Given the description of an element on the screen output the (x, y) to click on. 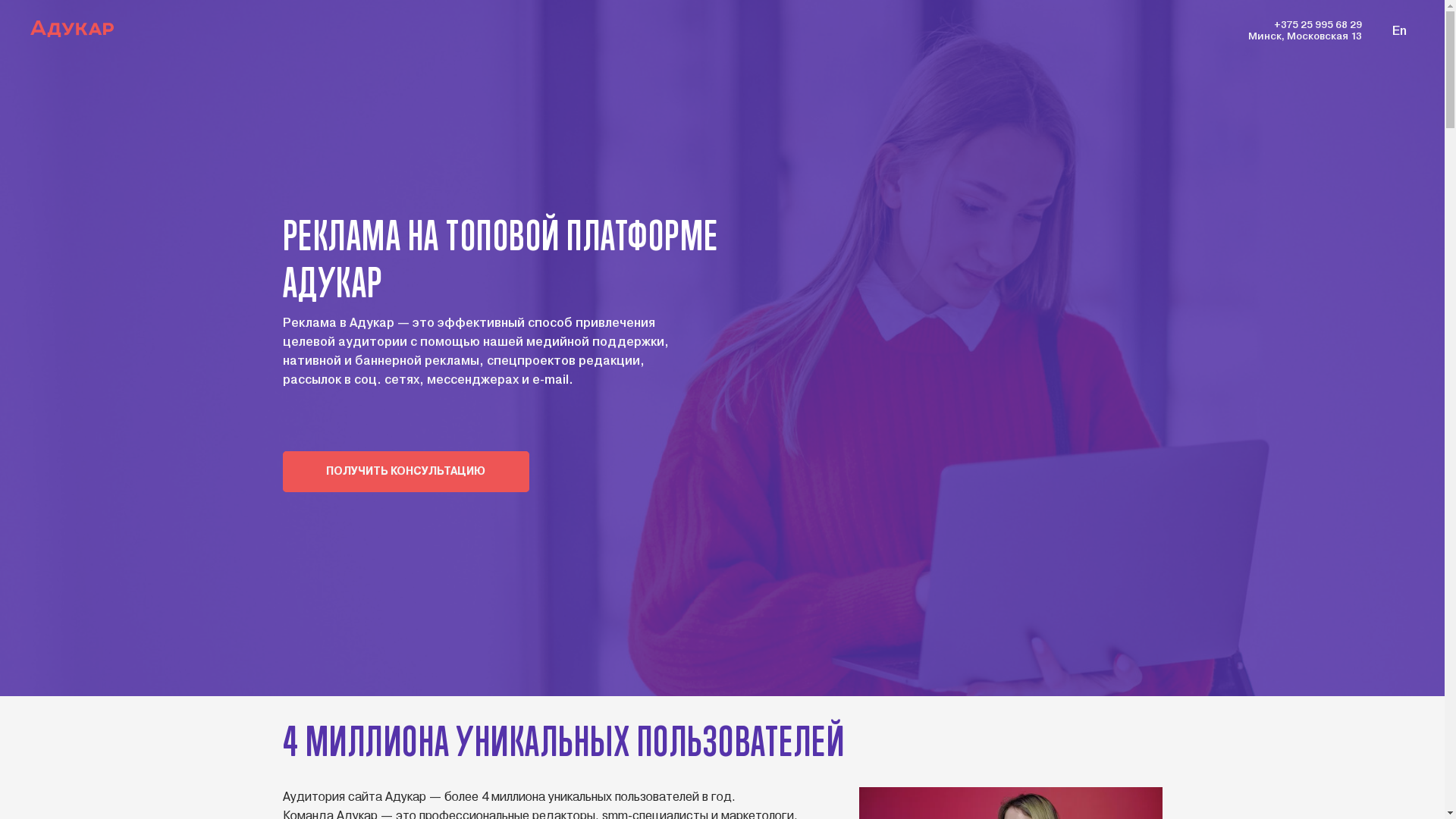
+375 25 995 68 29 Element type: text (1317, 24)
En Element type: text (1399, 30)
